Given the description of an element on the screen output the (x, y) to click on. 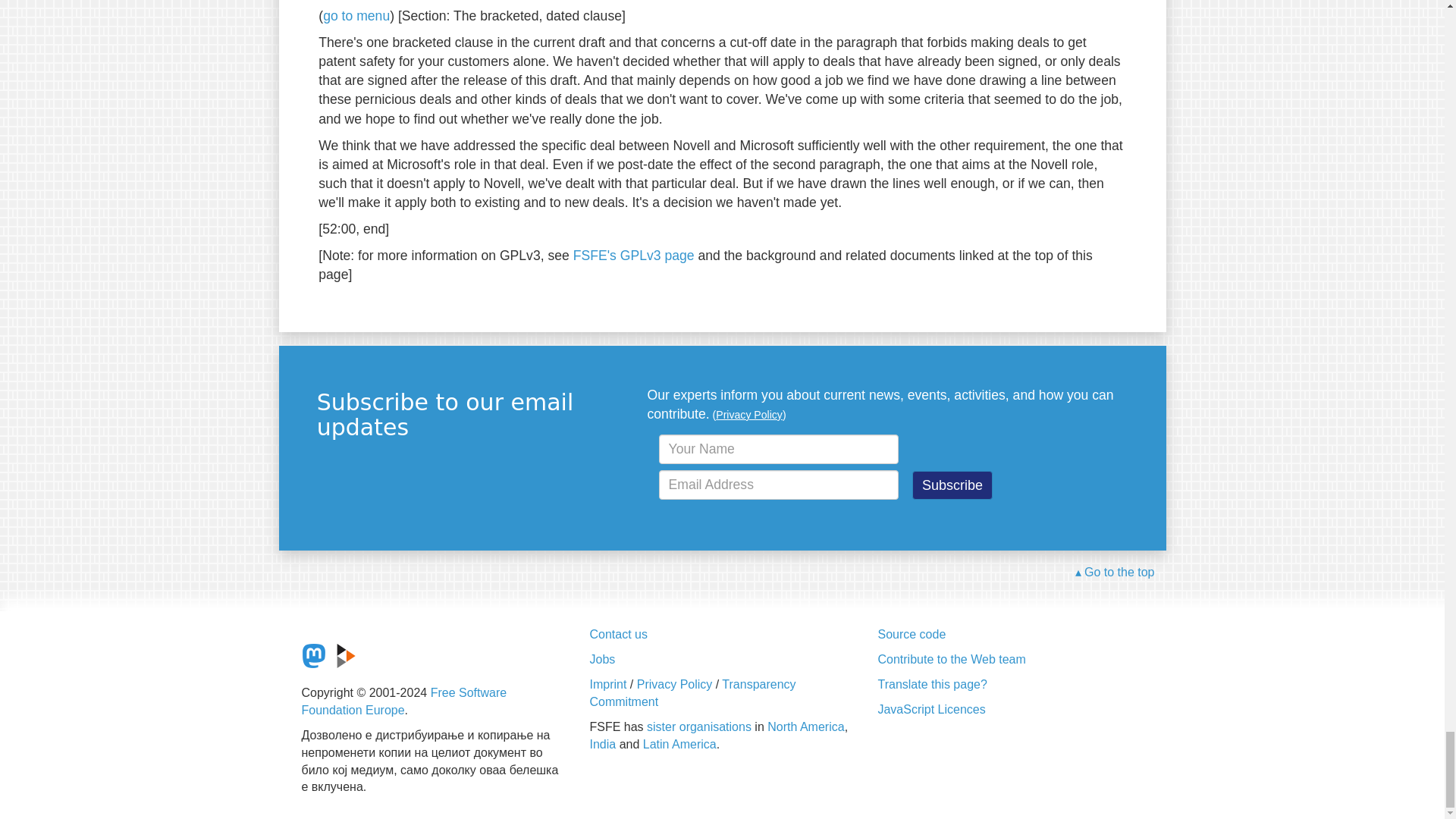
Peertube (345, 655)
Mastodon (313, 655)
Subscribe (952, 484)
